Given the description of an element on the screen output the (x, y) to click on. 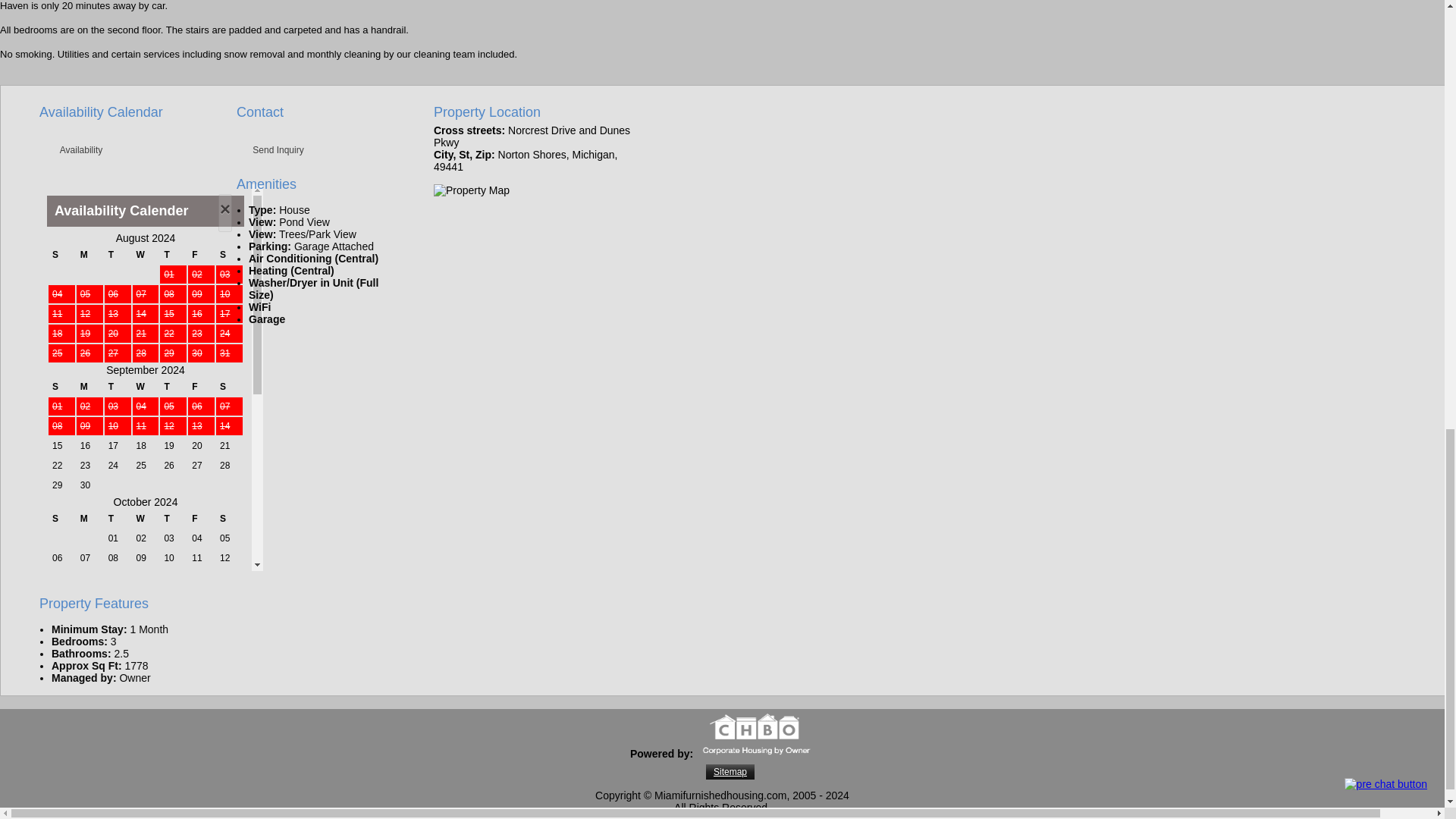
Sunday, August 11, 2024 (61, 313)
Friday (200, 254)
Tuesday, August  6, 2024 (117, 294)
Saturday (229, 254)
Availability (81, 150)
Saturday, August  3, 2024 (229, 274)
Saturday, August 10, 2024 (229, 294)
Send Inquiry (277, 150)
Thursday, August  8, 2024 (173, 294)
Monday (90, 254)
